Given the description of an element on the screen output the (x, y) to click on. 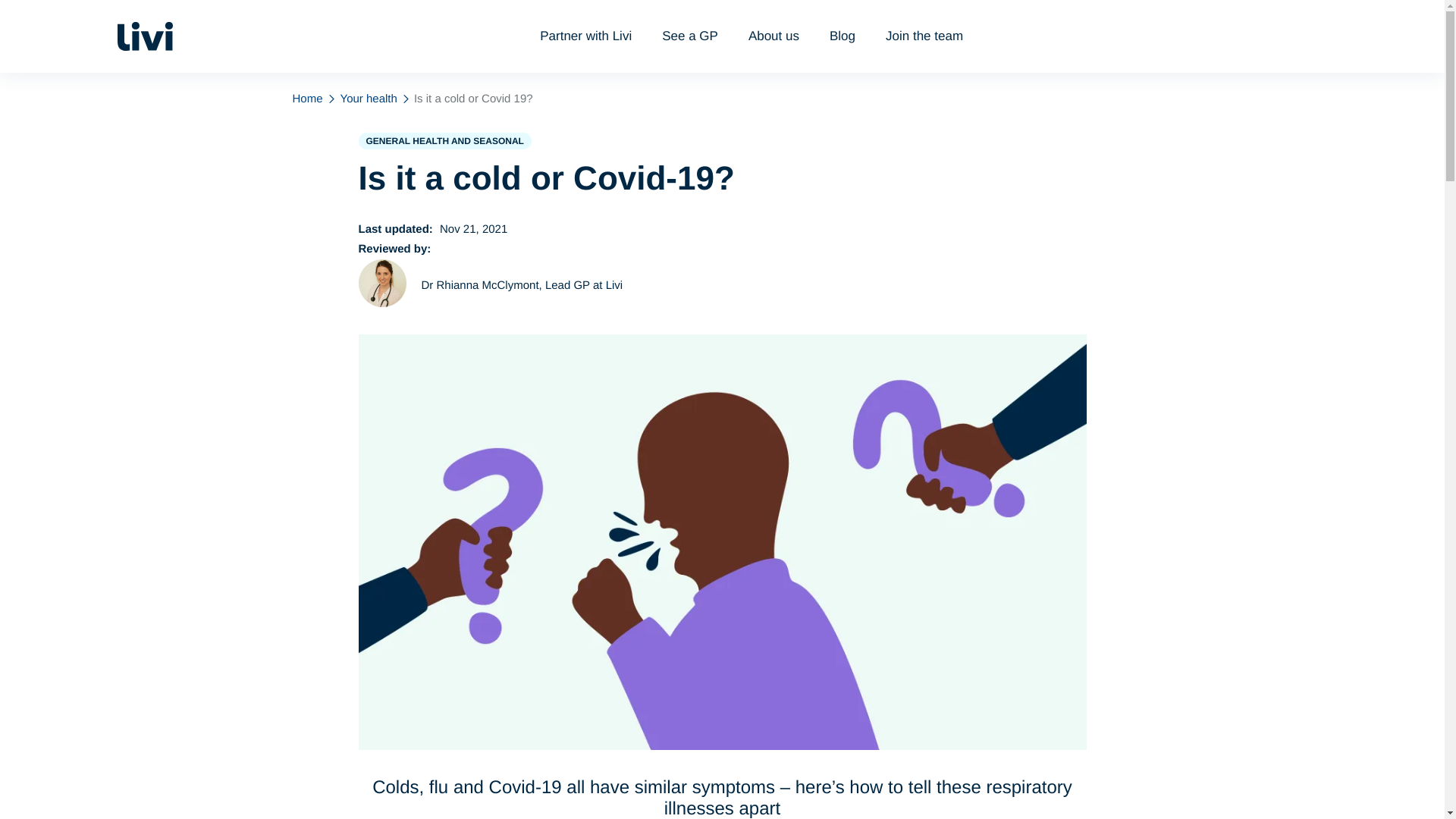
Your health (367, 98)
Home (306, 98)
Your health (367, 98)
Partner with Livi (585, 36)
Join the team (923, 36)
Partner with Livi (585, 36)
Join the team (923, 36)
Livi (144, 36)
Home (306, 98)
